Given the description of an element on the screen output the (x, y) to click on. 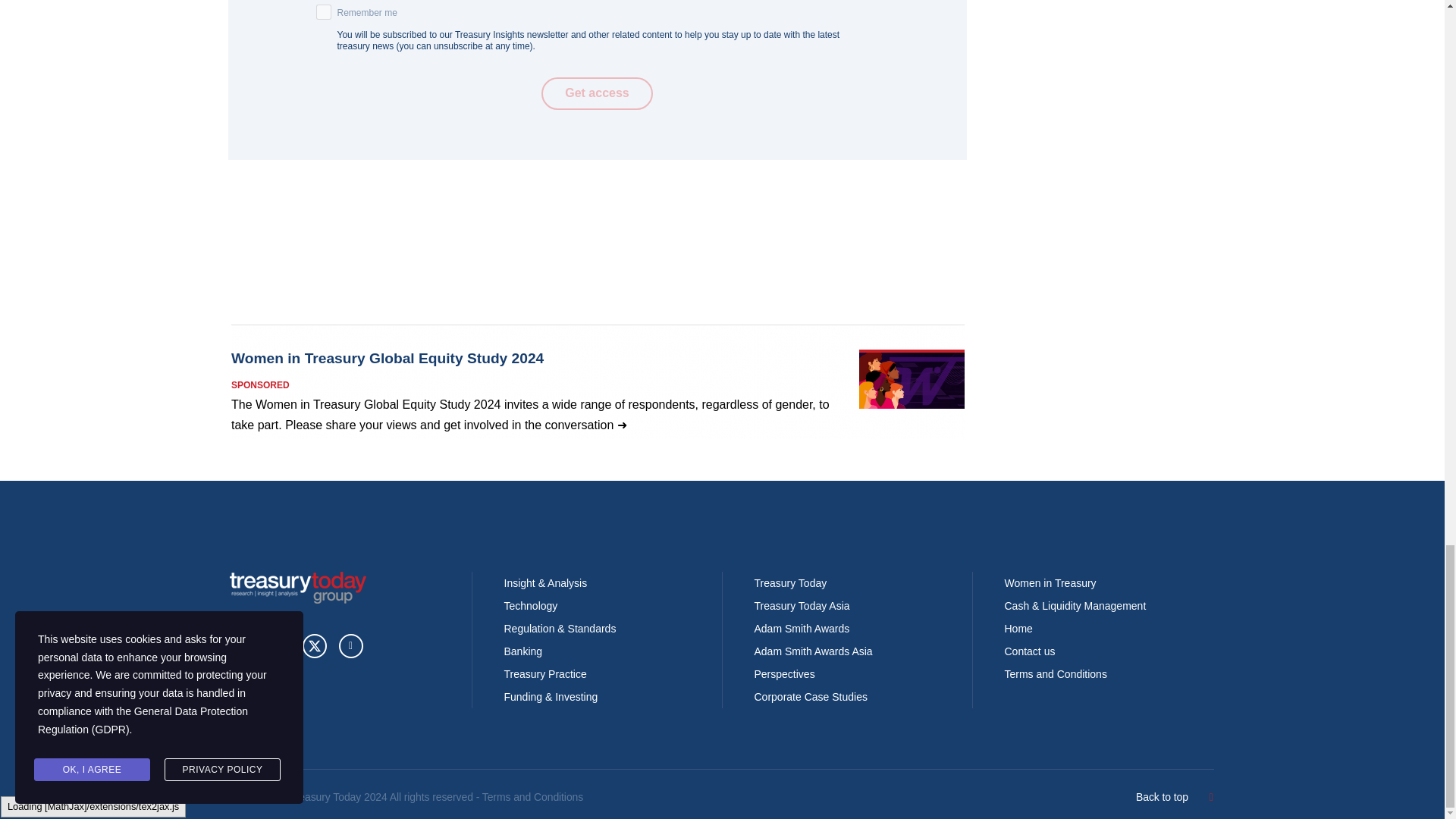
on (322, 11)
3rd party ad content (596, 381)
